Given the description of an element on the screen output the (x, y) to click on. 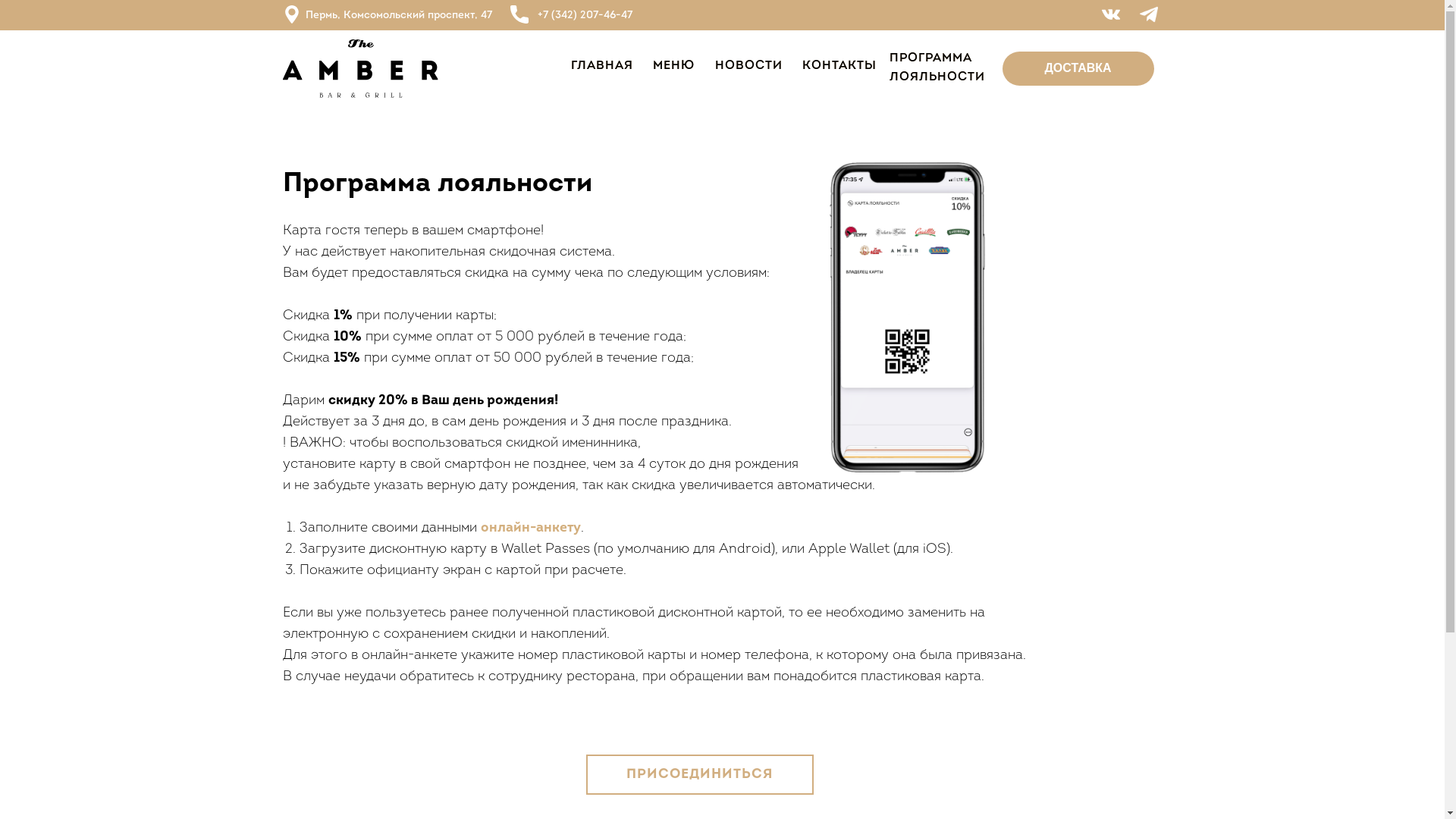
+7 (342) 207-46-47 Element type: text (583, 15)
